Given the description of an element on the screen output the (x, y) to click on. 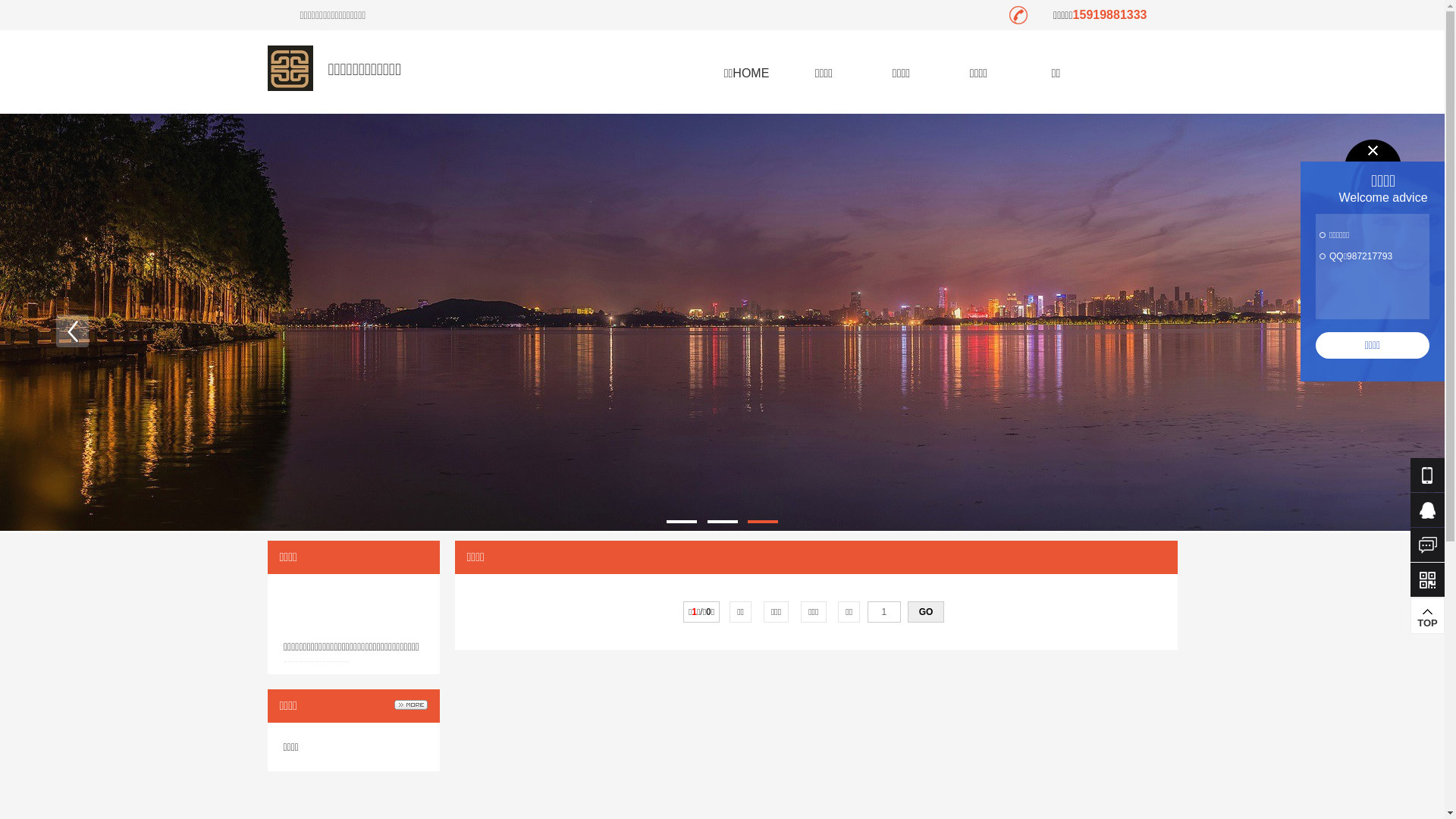
987217793 Element type: text (1369, 255)
TOP Element type: text (1427, 615)
GO Element type: text (925, 611)
